Given the description of an element on the screen output the (x, y) to click on. 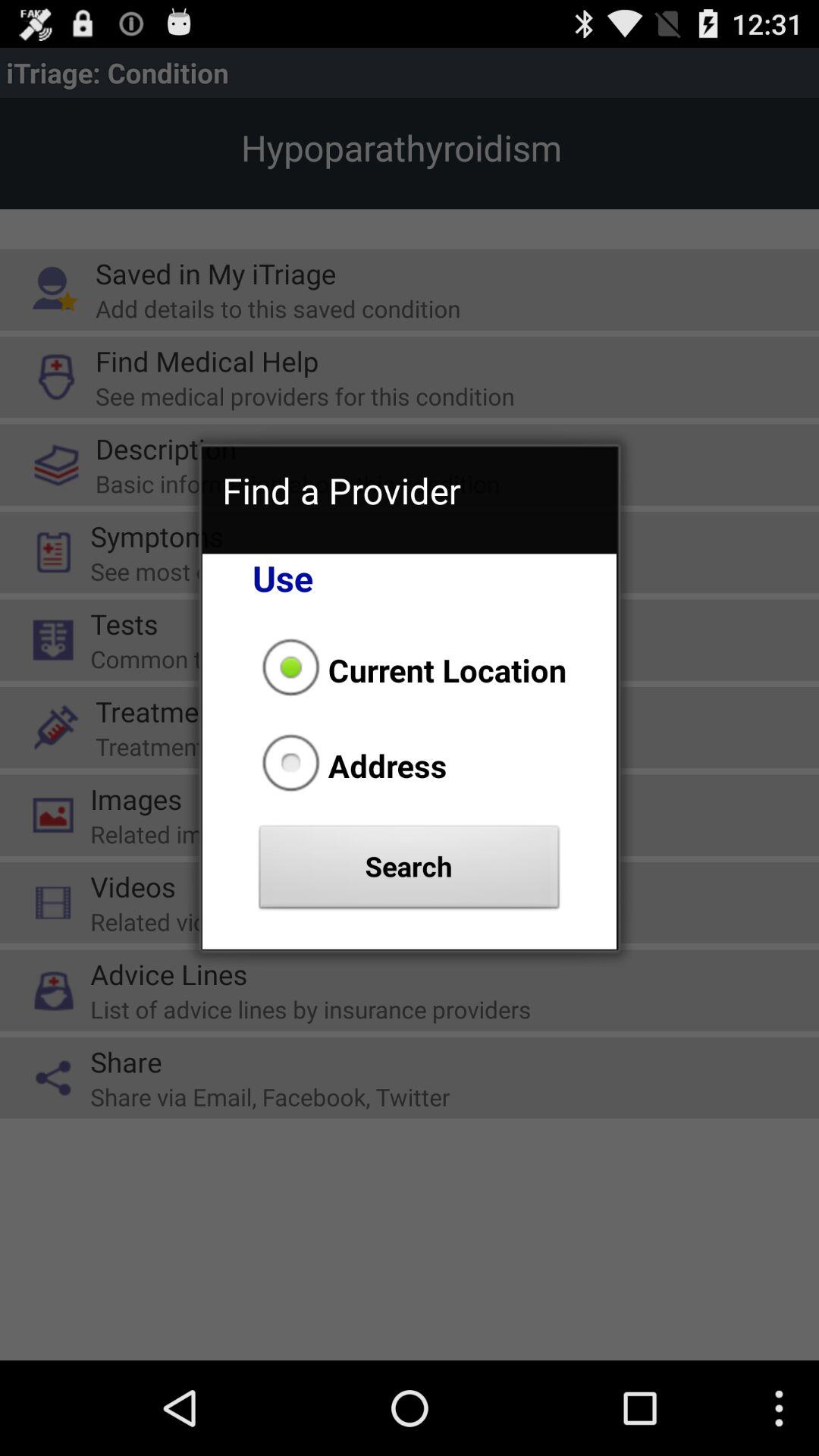
select the app below the use (409, 669)
